Given the description of an element on the screen output the (x, y) to click on. 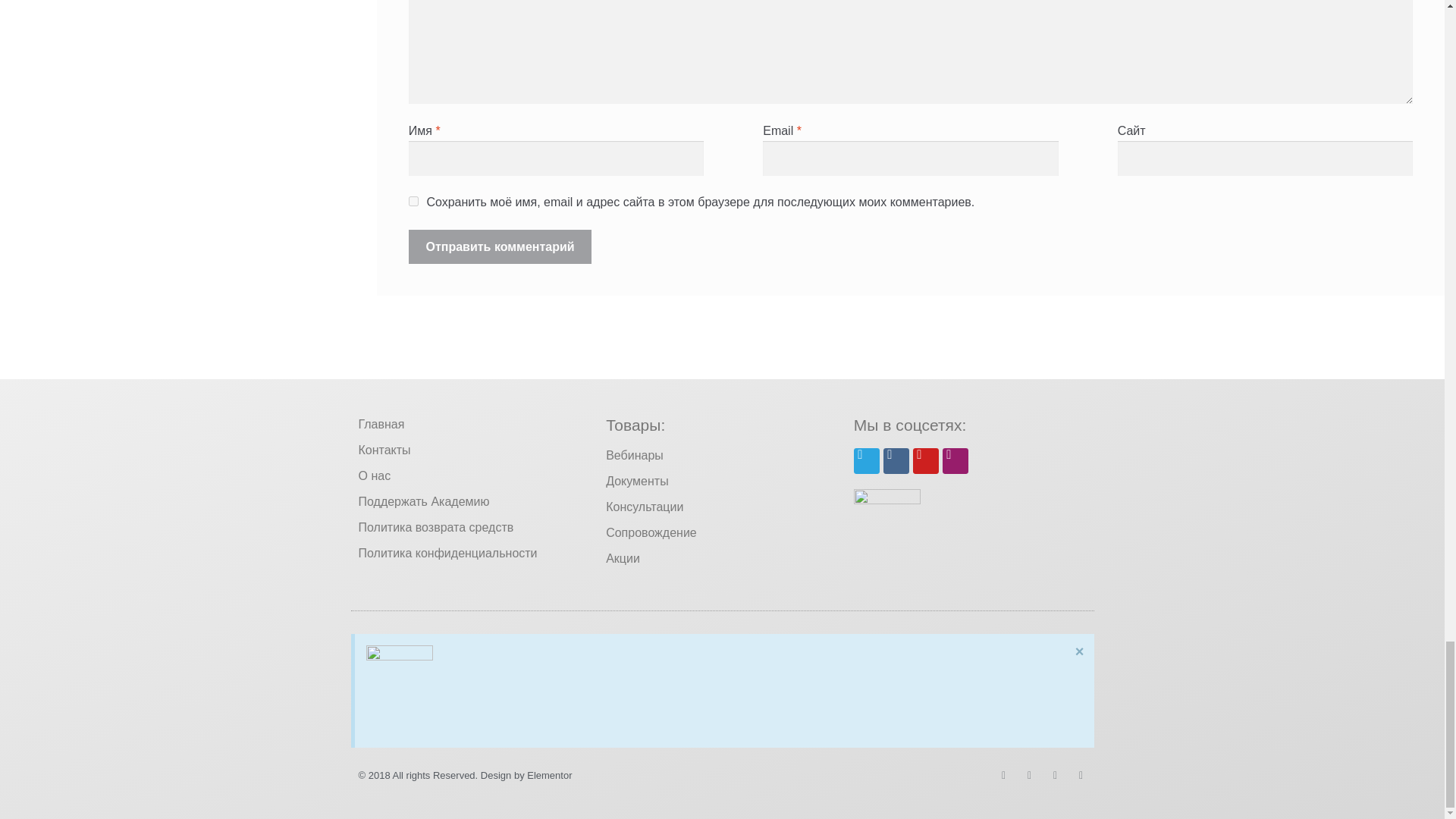
yes (414, 201)
